Given the description of an element on the screen output the (x, y) to click on. 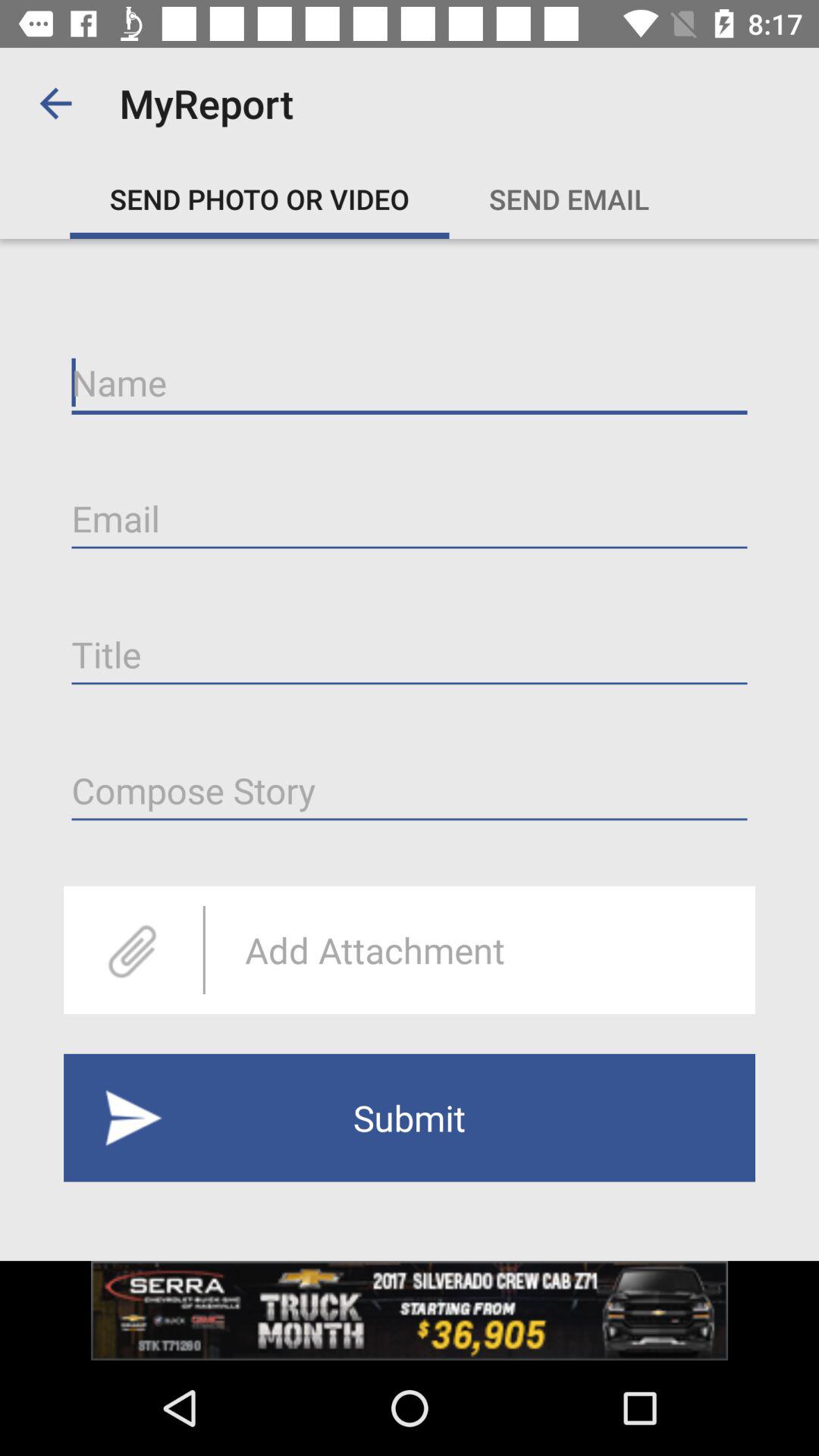
enter the name (409, 383)
